Given the description of an element on the screen output the (x, y) to click on. 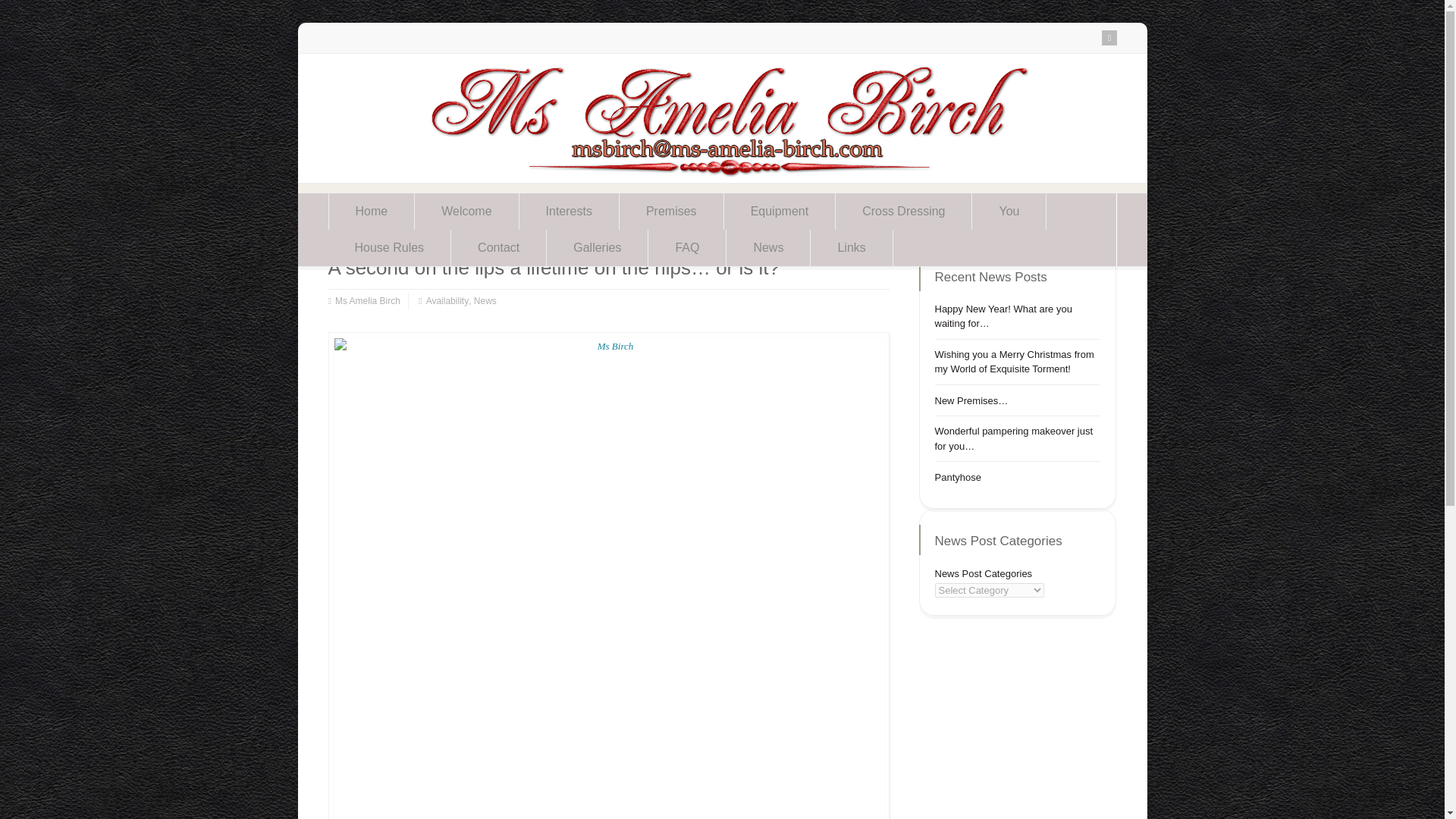
House Rules (388, 248)
Home (371, 211)
Contact (498, 248)
Posts by Ms Amelia Birch (367, 301)
Welcome (466, 211)
Interests (568, 211)
Equipment (779, 211)
Premises (671, 211)
Galleries (597, 248)
